Given the description of an element on the screen output the (x, y) to click on. 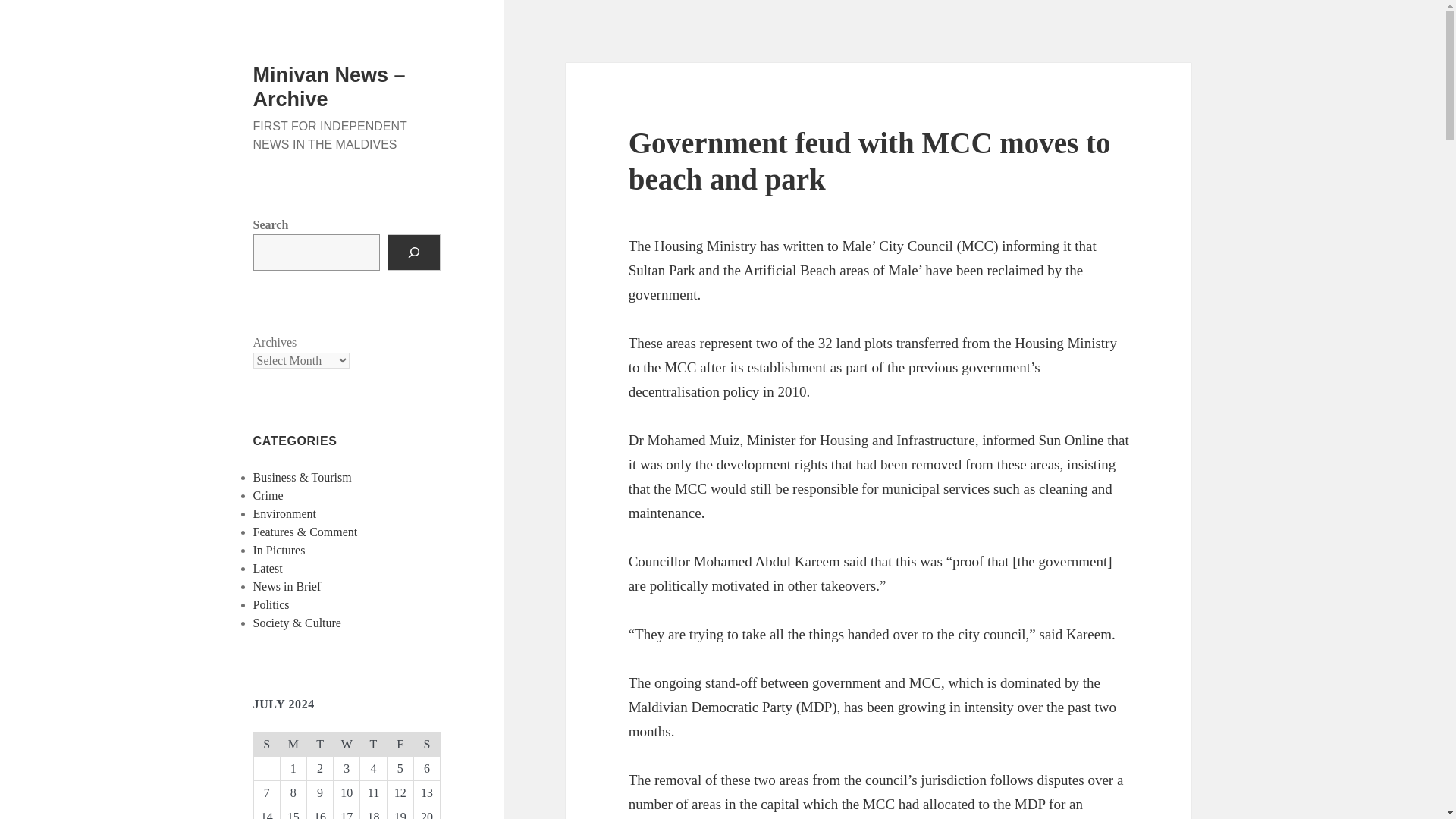
In Pictures (279, 549)
Thursday (373, 743)
Tuesday (319, 743)
Environment (285, 513)
Latest (267, 567)
Saturday (426, 743)
News in Brief (287, 585)
Monday (292, 743)
Sunday (266, 743)
Crime (268, 495)
Politics (271, 604)
Friday (400, 743)
Wednesday (346, 743)
